Given the description of an element on the screen output the (x, y) to click on. 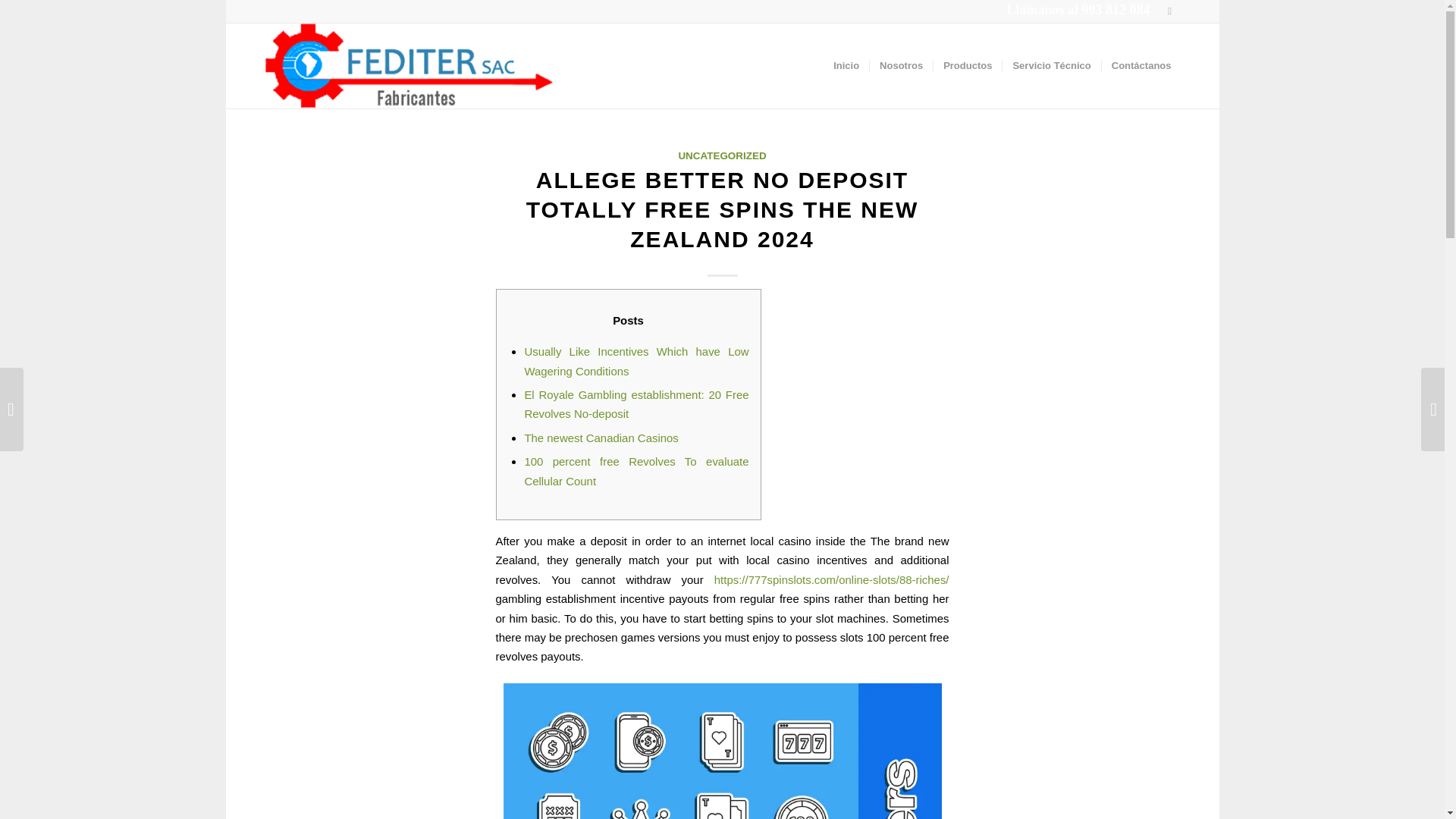
100 percent free Revolves To evaluate Cellular Count (636, 470)
The newest Canadian Casinos (601, 437)
UNCATEGORIZED (721, 155)
Usually Like Incentives Which have Low Wagering Conditions (636, 360)
